Given the description of an element on the screen output the (x, y) to click on. 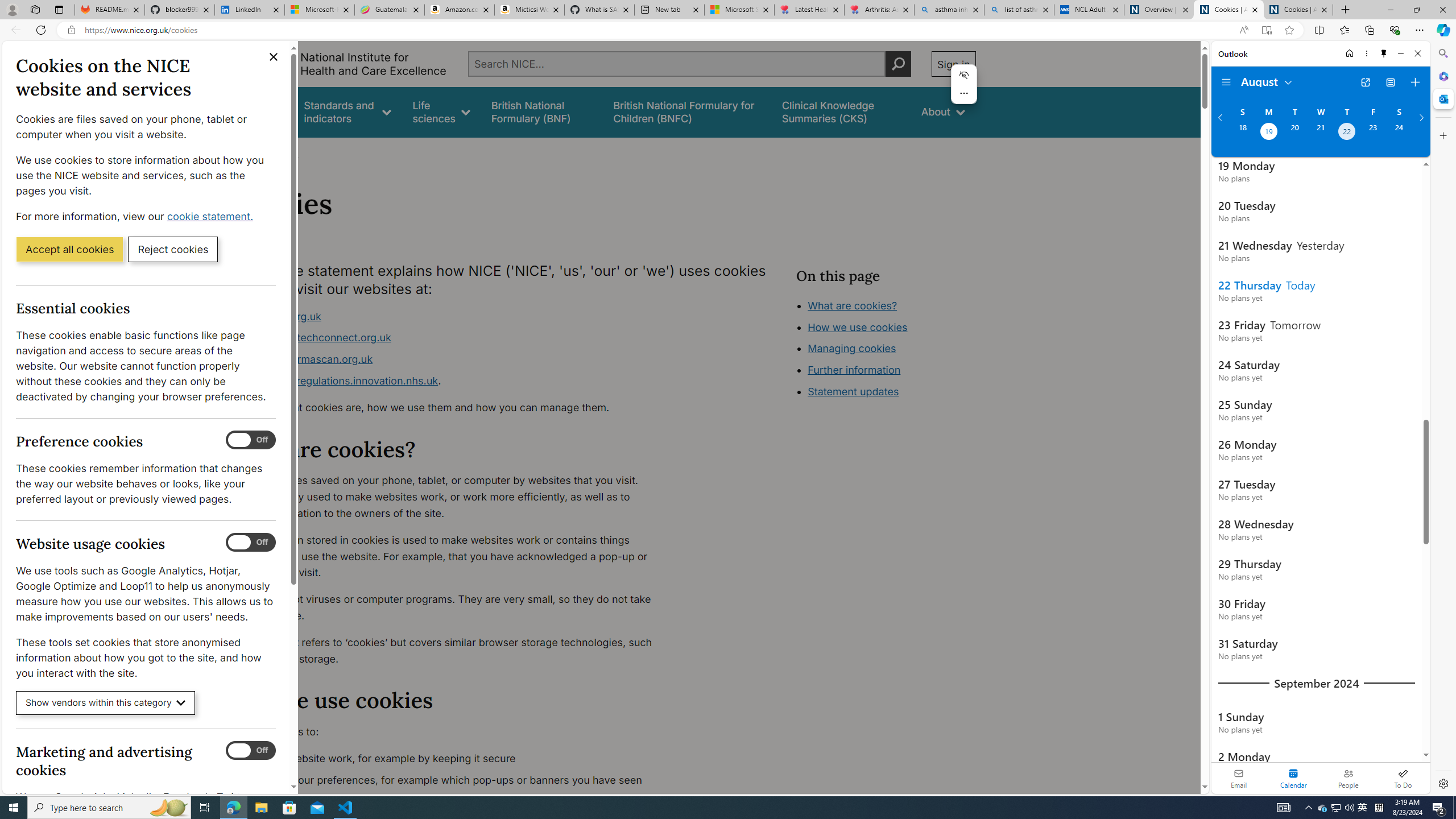
cookie statement. (Opens in a new window) (211, 215)
Home> (246, 152)
Reject cookies (173, 248)
What are cookies? (852, 305)
false (841, 111)
